Given the description of an element on the screen output the (x, y) to click on. 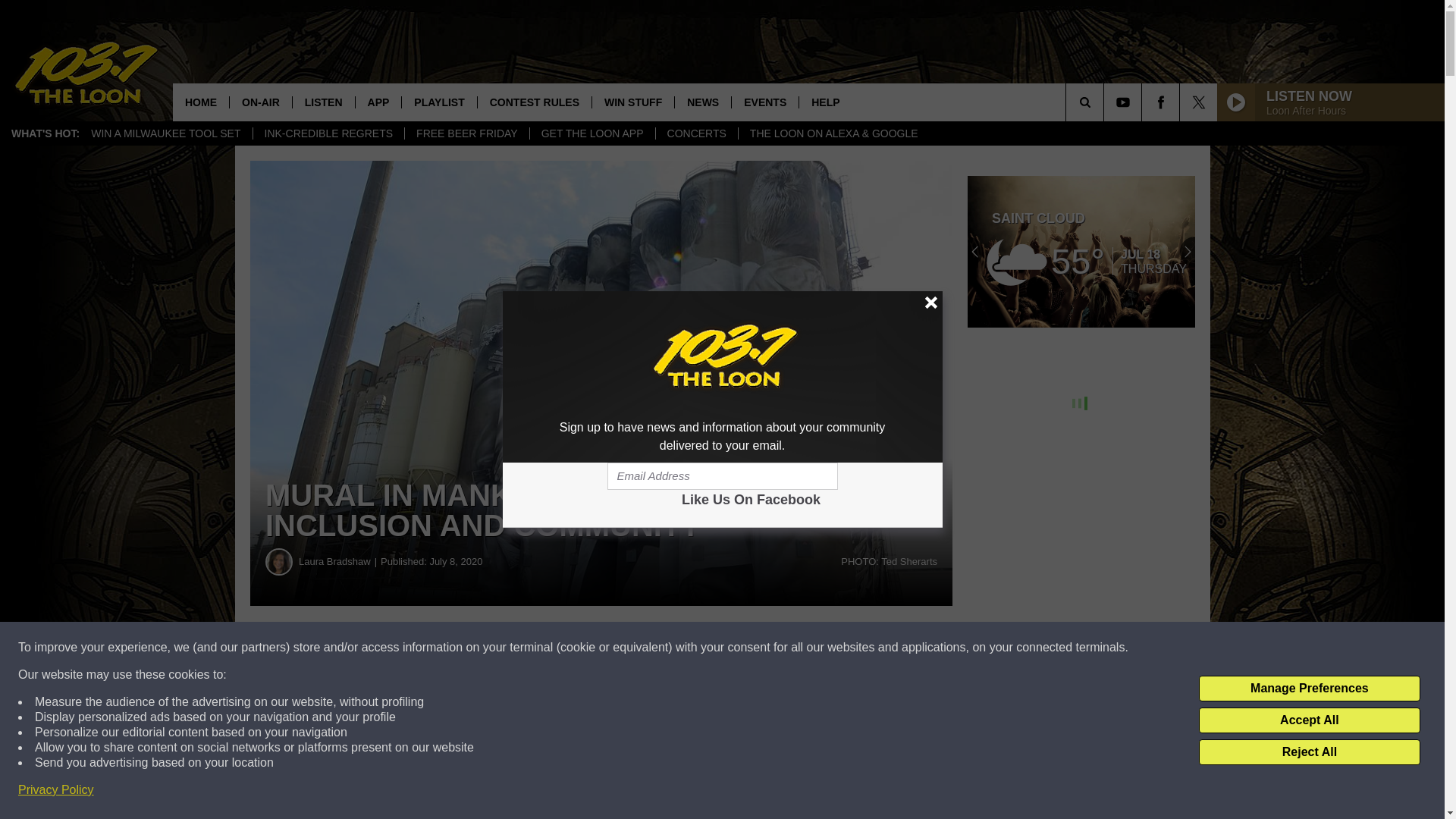
SEARCH (1106, 102)
ON-AIR (260, 102)
St Cloud Weather (1081, 251)
WIN A MILWAUKEE TOOL SET (165, 133)
Privacy Policy (55, 789)
Share on Twitter (741, 647)
PLAYLIST (438, 102)
GET THE LOON APP (592, 133)
APP (378, 102)
INK-CREDIBLE REGRETS (327, 133)
Email Address (722, 475)
HOME (200, 102)
SEARCH (1106, 102)
FREE BEER FRIDAY (466, 133)
Accept All (1309, 720)
